Given the description of an element on the screen output the (x, y) to click on. 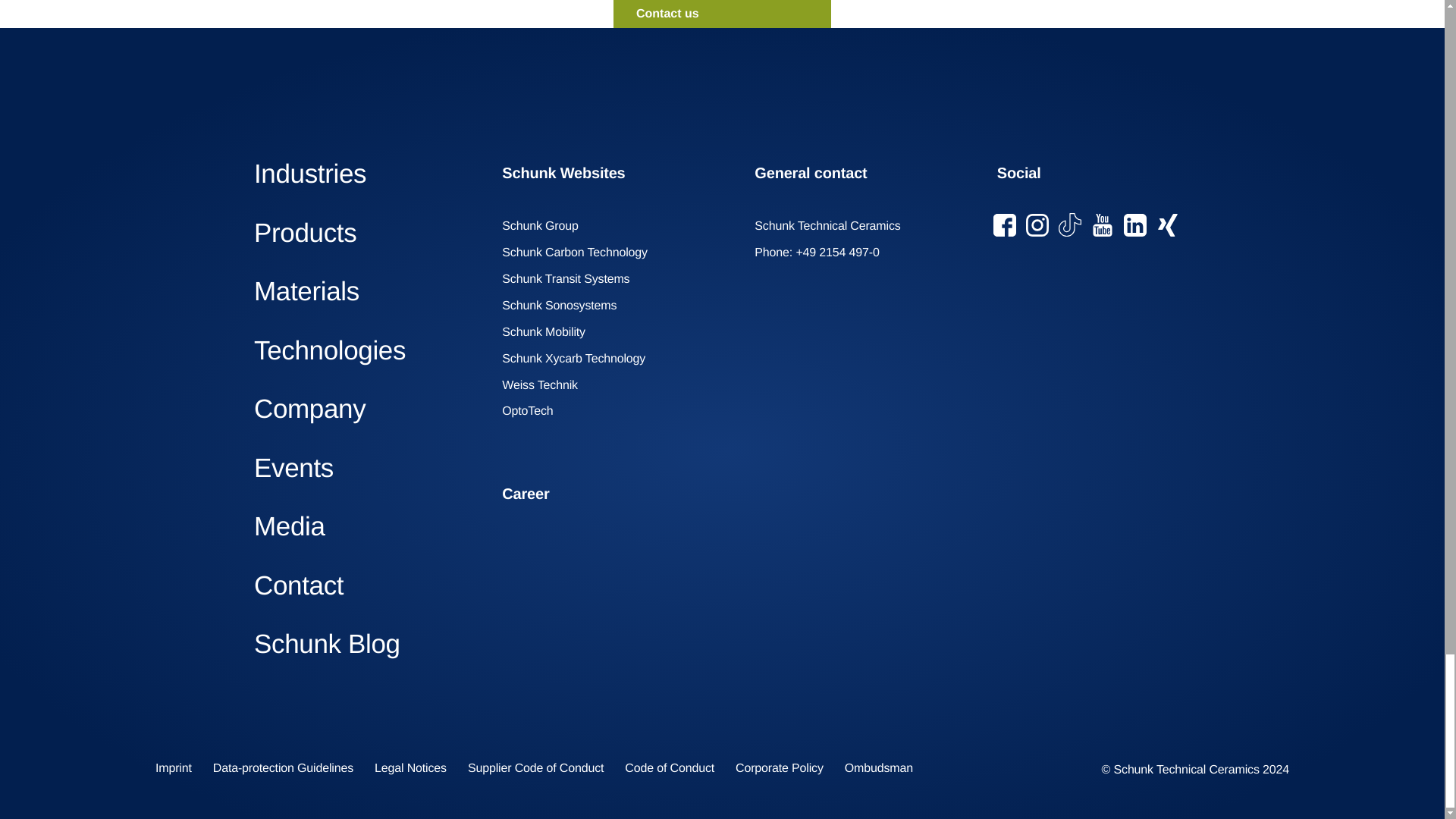
Contact (366, 585)
Materials (366, 291)
Media (366, 526)
Schunk Xycarb Technology (579, 359)
Products (366, 233)
Media (366, 526)
Schunk Transit Systems (571, 279)
Products (366, 233)
Technologies (366, 350)
Contact (366, 585)
